Given the description of an element on the screen output the (x, y) to click on. 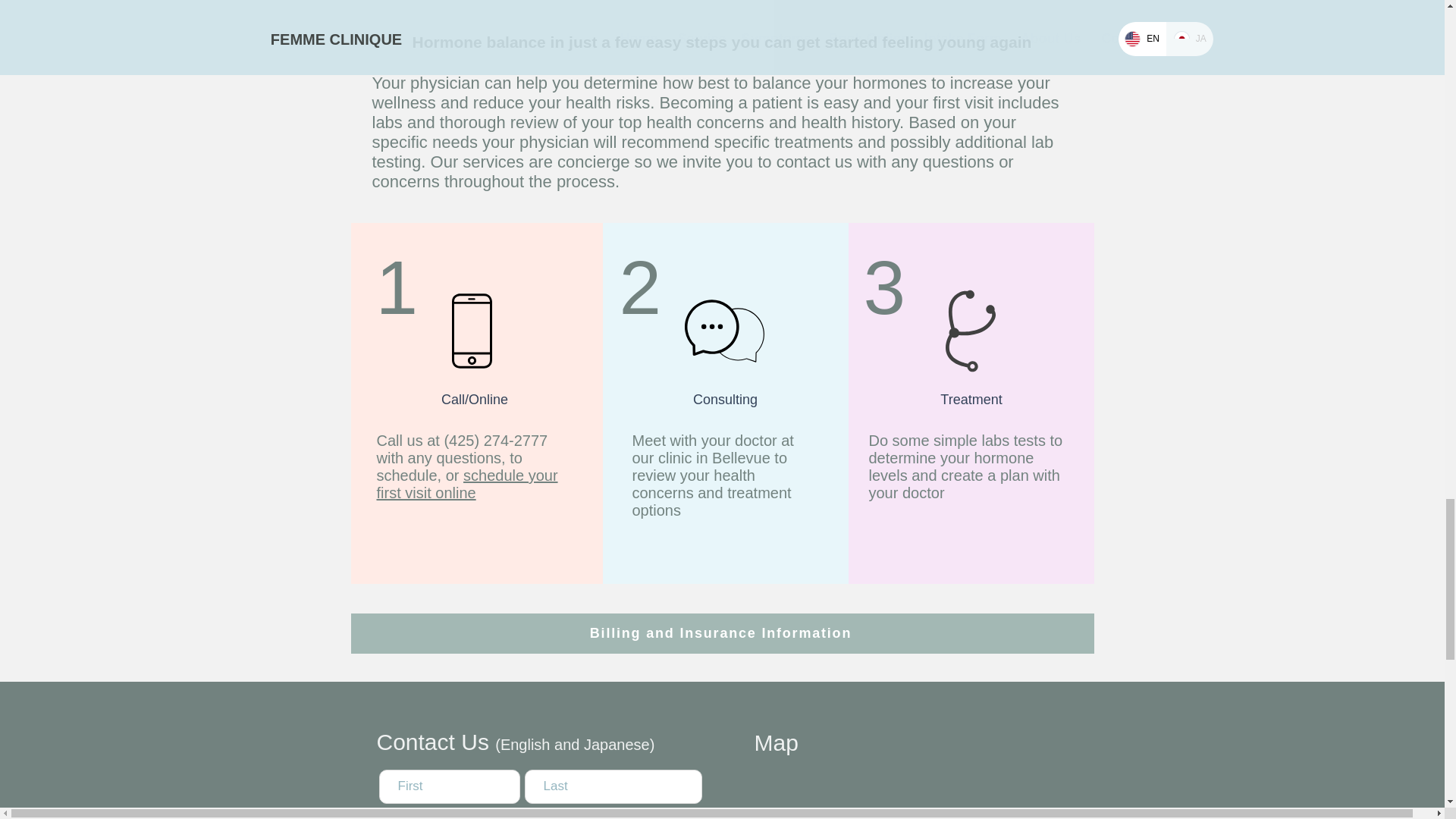
Billing and Insurance Information (721, 633)
Google Maps (920, 794)
schedule your first visit online (466, 483)
